Given the description of an element on the screen output the (x, y) to click on. 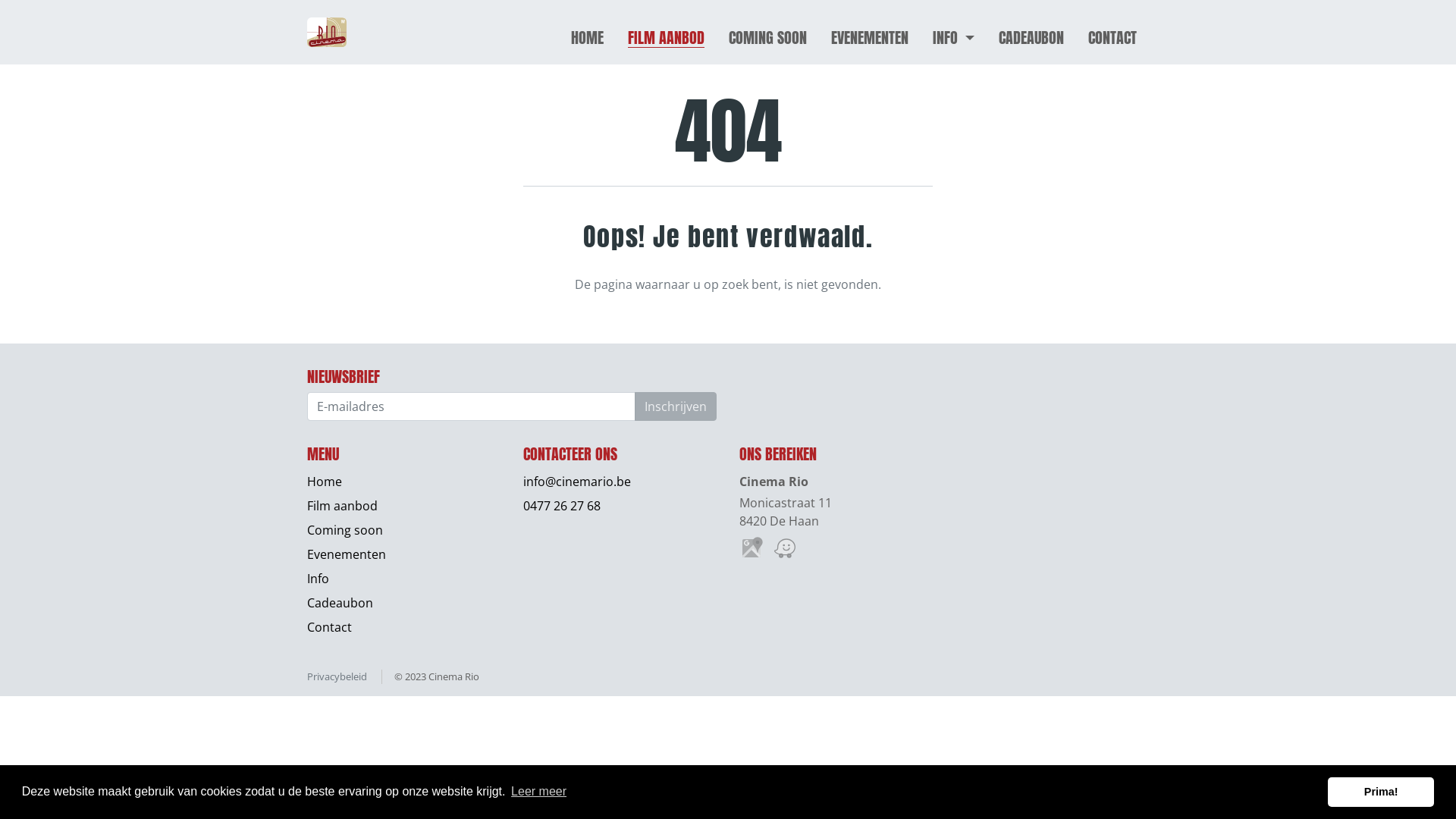
Contact Element type: text (329, 626)
Coming soon Element type: text (344, 529)
Cadeaubon Element type: text (340, 602)
Leer meer Element type: text (538, 791)
INFO Element type: text (953, 37)
Home Element type: text (324, 481)
info@cinemario.be Element type: text (576, 481)
Info Element type: text (318, 578)
Evenementen Element type: text (346, 554)
CONTACT Element type: text (1112, 37)
HOME Element type: text (587, 37)
FILM AANBOD Element type: text (665, 37)
COMING SOON Element type: text (767, 37)
CADEAUBON Element type: text (1030, 37)
Prima! Element type: text (1380, 791)
Privacybeleid Element type: text (337, 676)
EVENEMENTEN Element type: text (869, 37)
0477 26 27 68 Element type: text (561, 505)
Film aanbod Element type: text (342, 505)
Inschrijven Element type: text (675, 406)
